Given the description of an element on the screen output the (x, y) to click on. 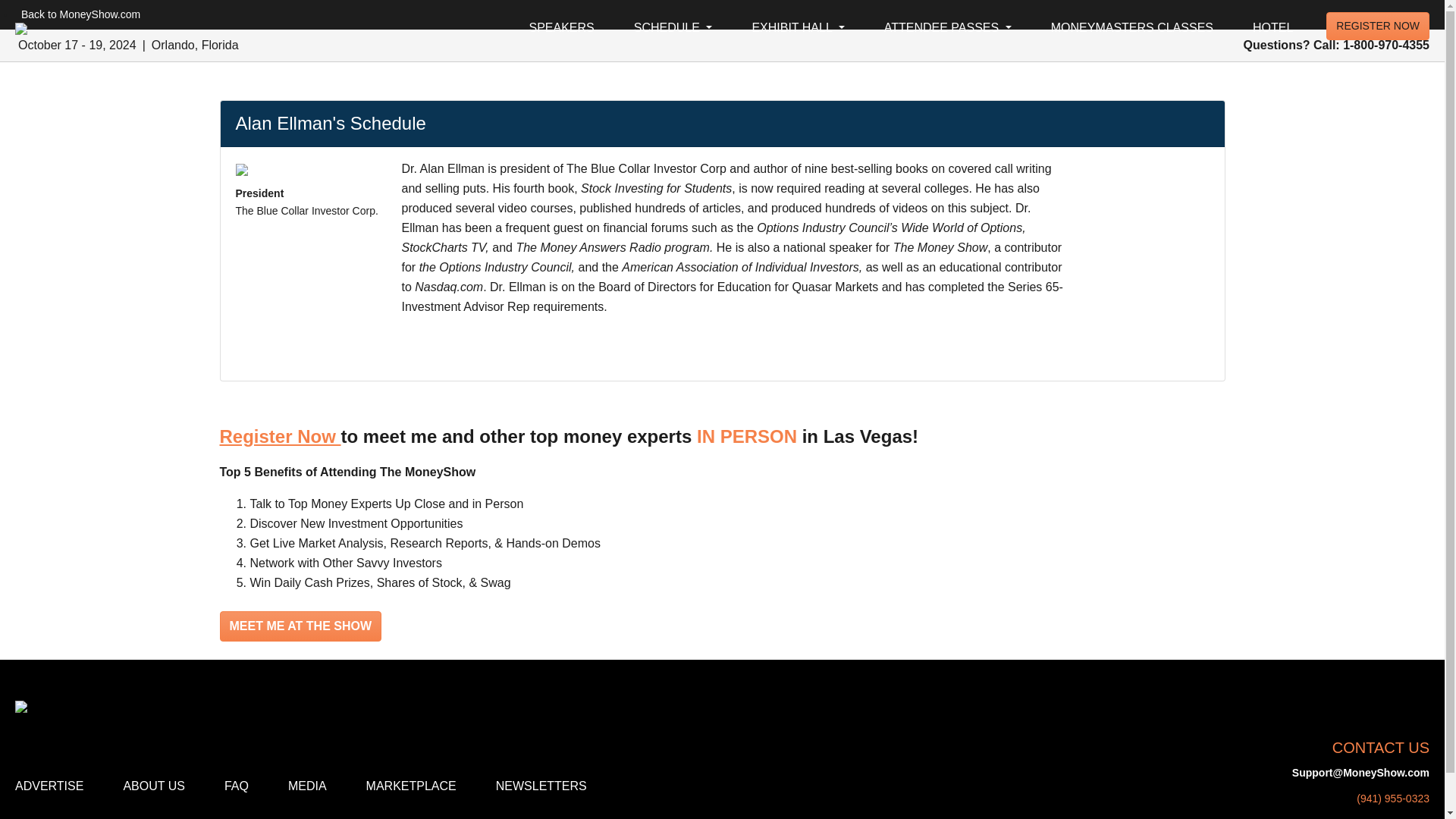
MONEYMASTERS CLASSES (1132, 28)
MARKETPLACE (411, 786)
ADVERTISE (51, 786)
MEDIA (307, 786)
FAQ (236, 786)
SCHEDULE (673, 28)
REGISTER NOW (1377, 26)
EXHIBIT HALL (797, 28)
SPEAKERS (560, 28)
NEWSLETTERS (540, 786)
HOTEL (1272, 28)
ABOUT US (153, 786)
Back to MoneyShow.com (76, 14)
Register Now (279, 435)
ATTENDEE PASSES (947, 28)
